Given the description of an element on the screen output the (x, y) to click on. 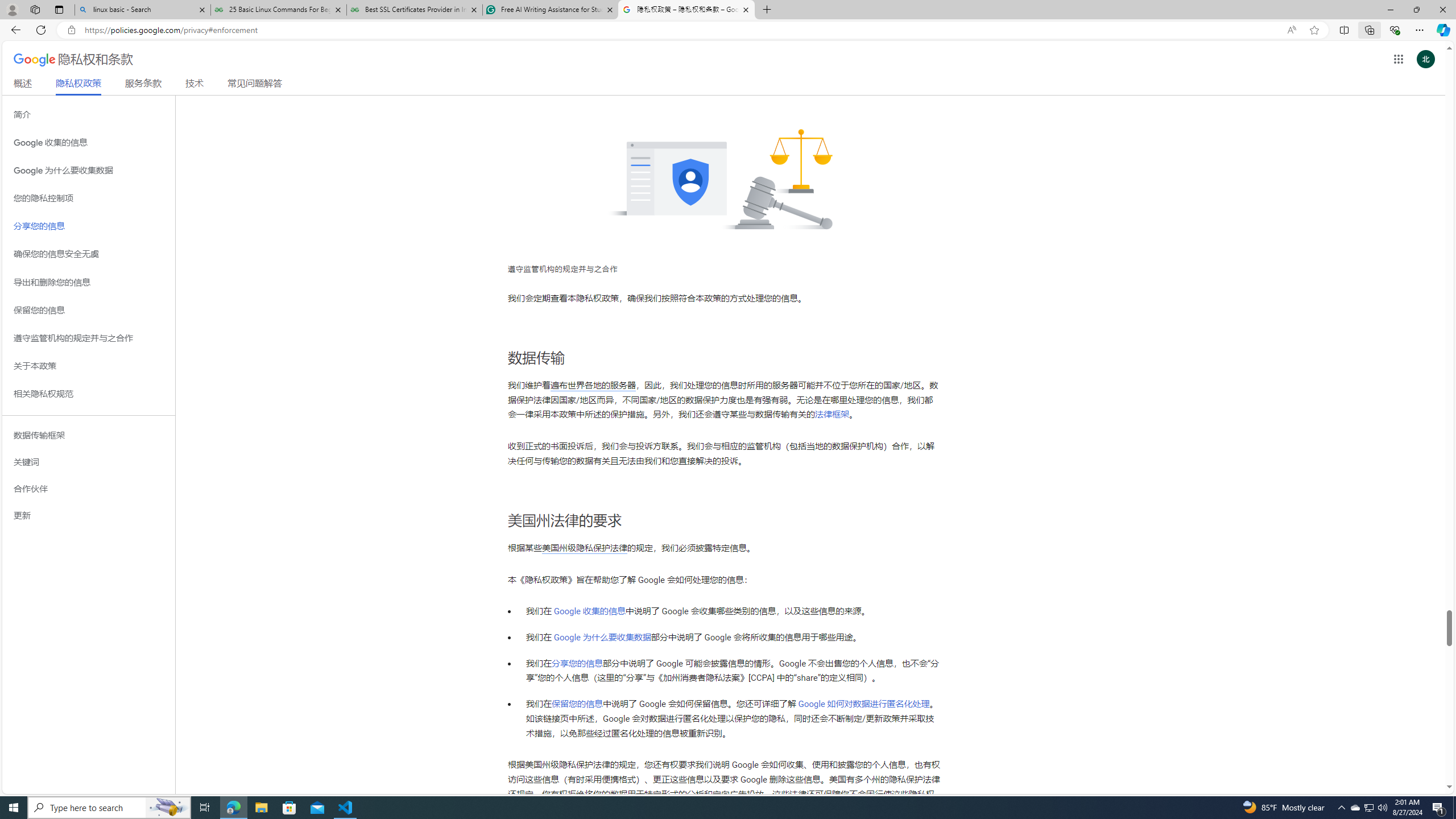
Best SSL Certificates Provider in India - GeeksforGeeks (414, 9)
Free AI Writing Assistance for Students | Grammarly (550, 9)
